Given the description of an element on the screen output the (x, y) to click on. 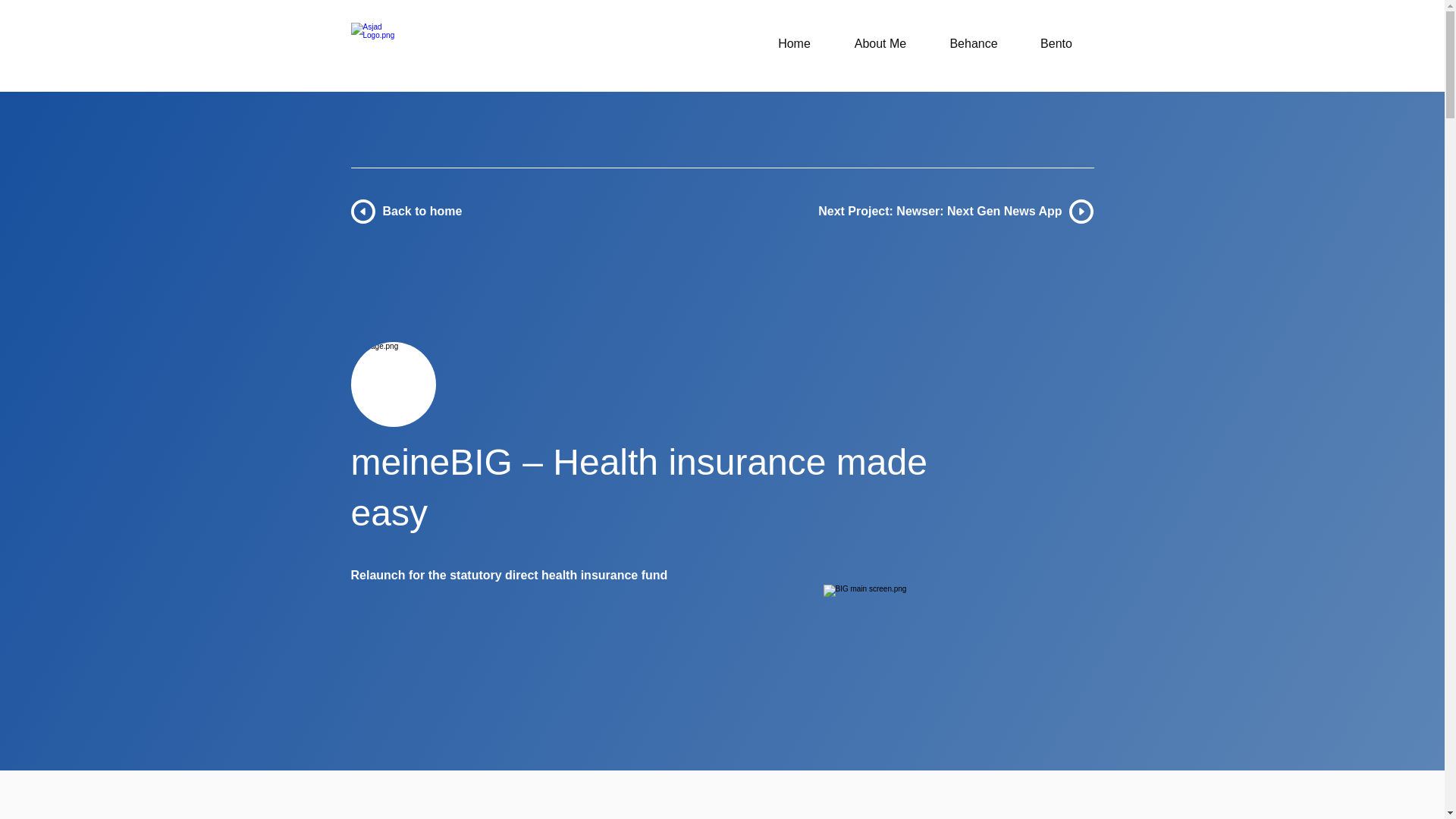
Behance (972, 44)
About Me (880, 44)
Home (794, 44)
Next Project: Newser: Next Gen News App (939, 210)
Back to home (421, 210)
Bento (1056, 44)
